Given the description of an element on the screen output the (x, y) to click on. 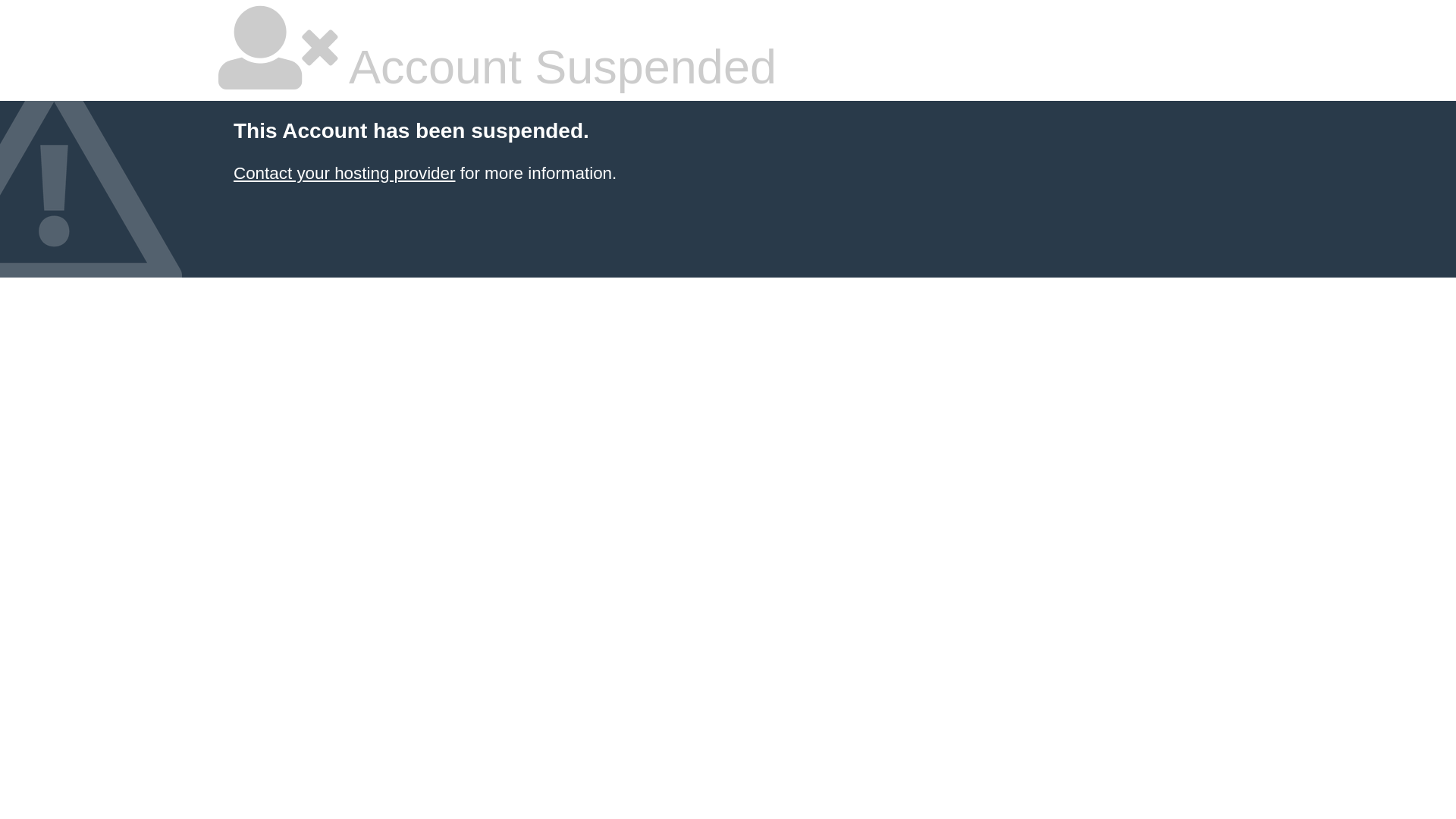
Contact your hosting provider Element type: text (344, 172)
